Given the description of an element on the screen output the (x, y) to click on. 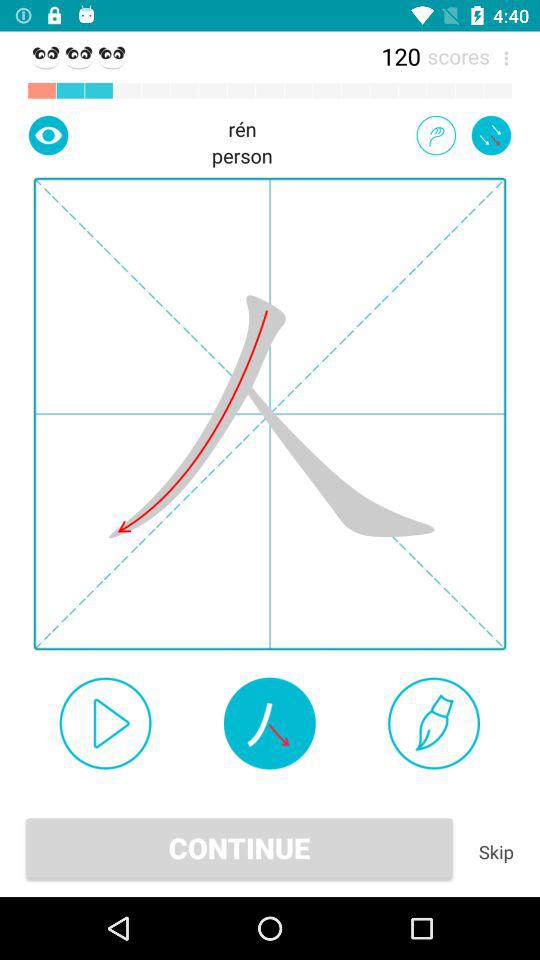
jump to the continue icon (239, 847)
